Given the description of an element on the screen output the (x, y) to click on. 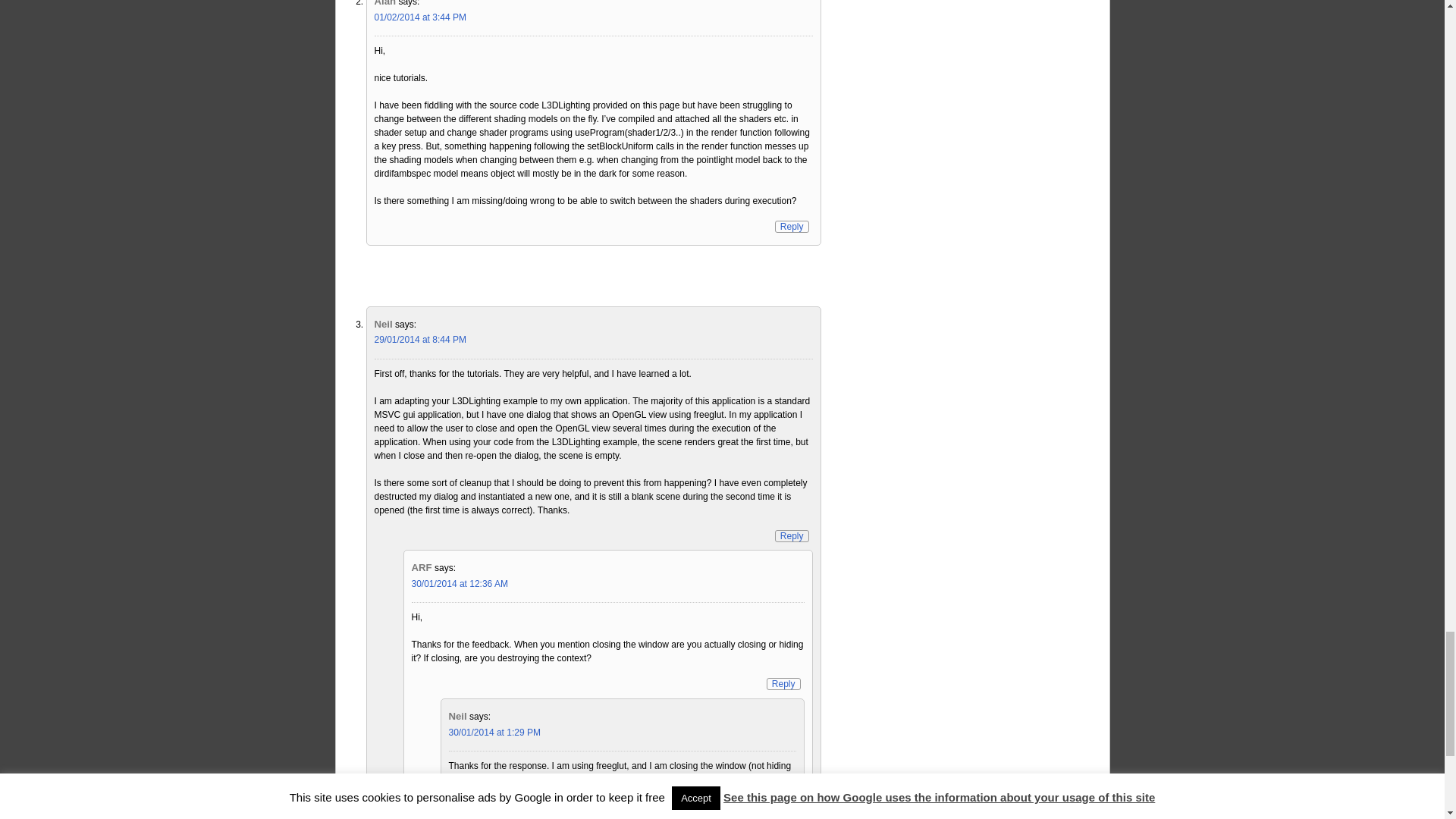
Reply (791, 226)
Reply (783, 684)
Reply (791, 535)
